Given the description of an element on the screen output the (x, y) to click on. 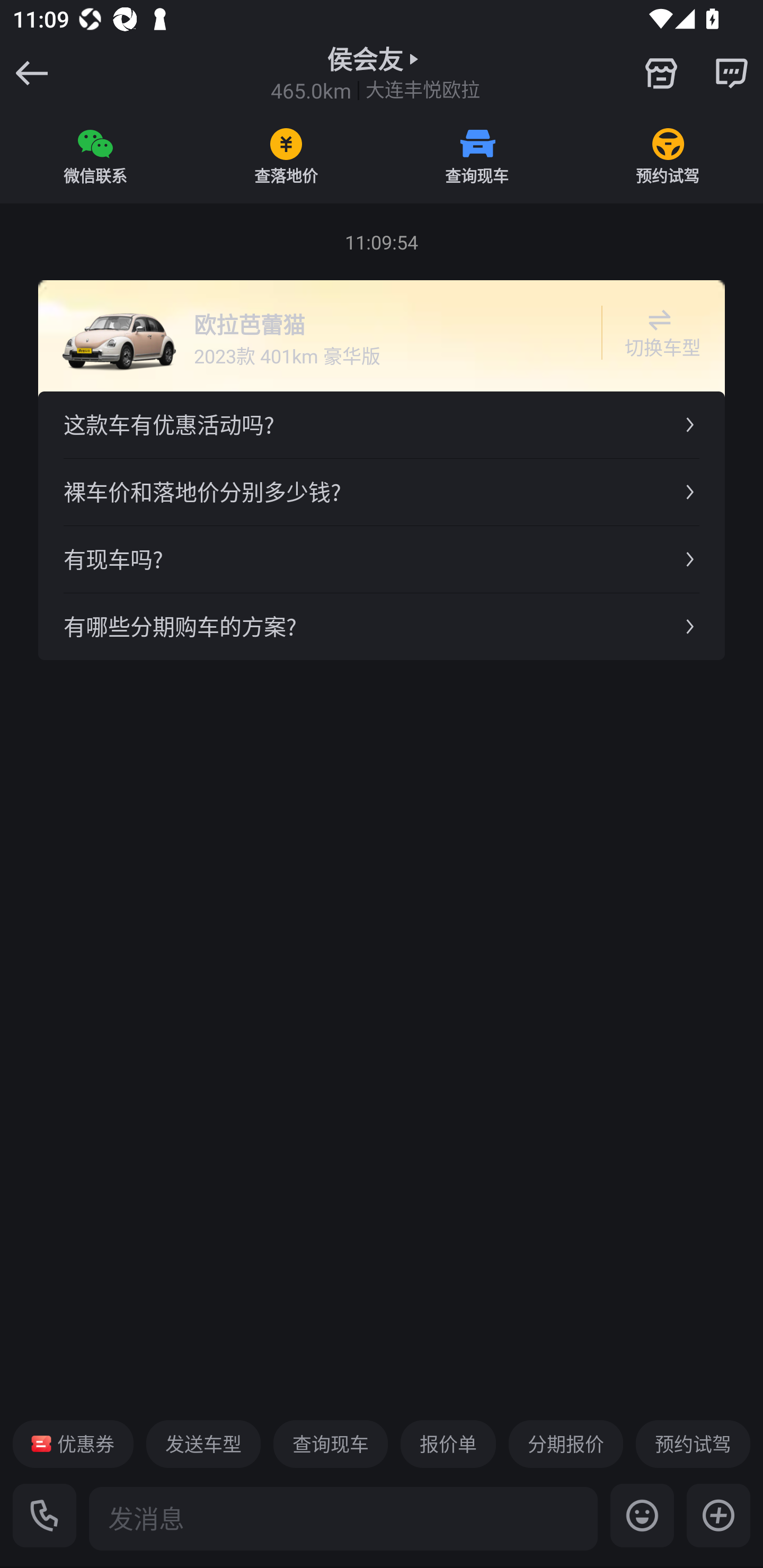
侯会友 465.0km 大连丰悦欧拉 (374, 73)
 (730, 72)
 (661, 73)
微信联系 (95, 155)
查落地价 (285, 155)
查询现车 (476, 155)
预约试驾 (667, 155)
切换车型 (659, 332)
这款车有优惠活动吗? (381, 424)
裸车价和落地价分别多少钱? (381, 492)
有现车吗? (381, 558)
有哪些分期购车的方案? (381, 626)
优惠券 (72, 1443)
发送车型 (203, 1443)
查询现车 (330, 1443)
报价单 (447, 1443)
分期报价 (565, 1443)
预约试驾 (692, 1443)
 (718, 1515)
发消息 (343, 1518)
